Given the description of an element on the screen output the (x, y) to click on. 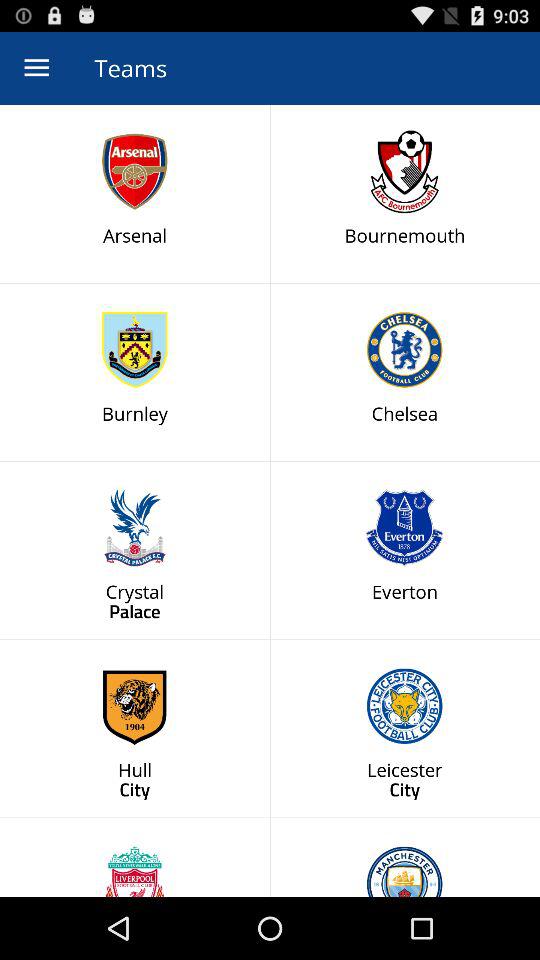
open the item next to teams item (36, 68)
